Given the description of an element on the screen output the (x, y) to click on. 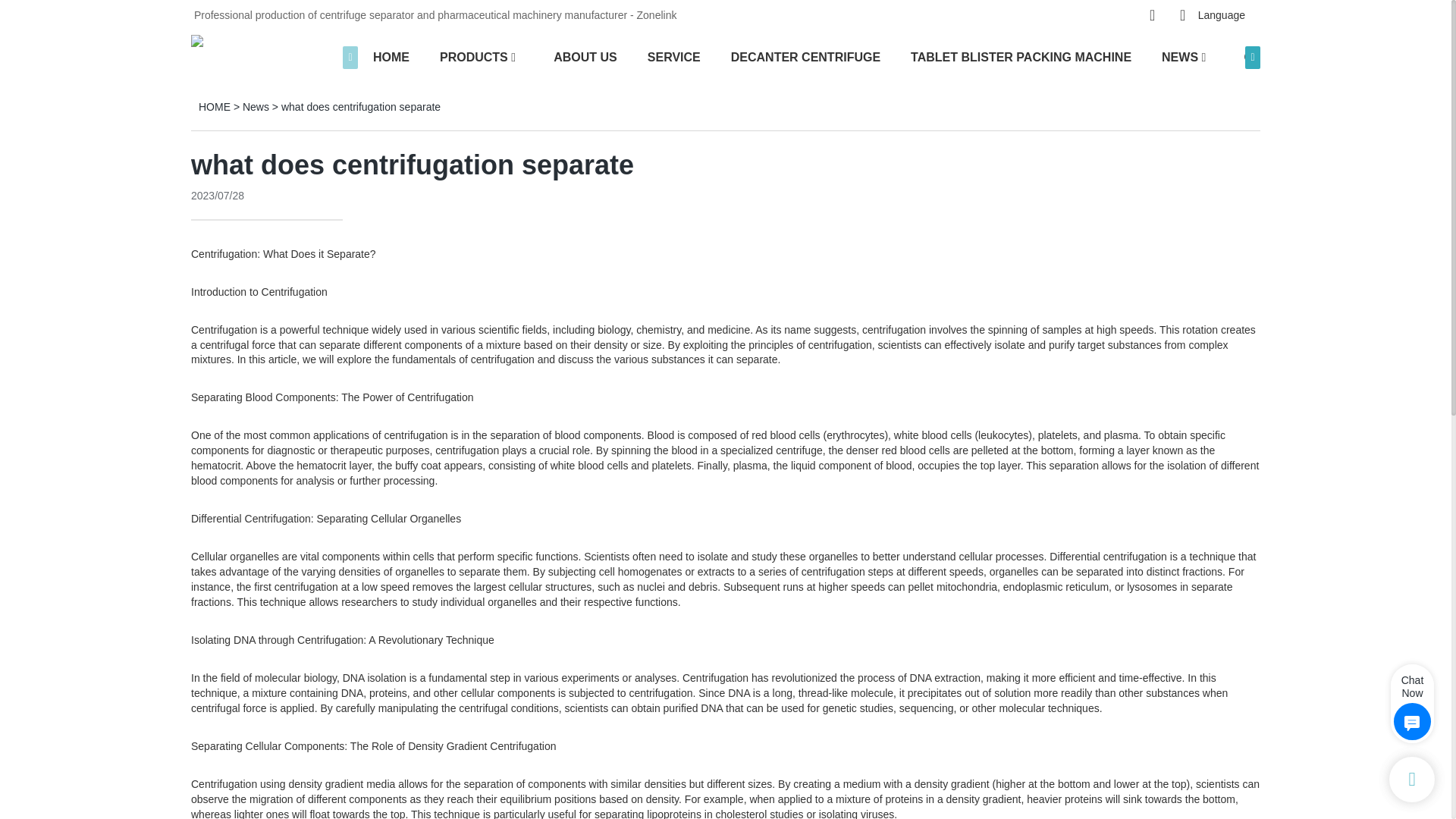
HOME (214, 106)
News (256, 106)
CONTACT US (1282, 56)
DECANTER CENTRIFUGE (805, 56)
ABOUT US (585, 56)
HOME (390, 56)
SERVICE (673, 56)
PRODUCTS (473, 56)
what does centrifugation separate (361, 106)
TABLET BLISTER PACKING MACHINE (1021, 56)
NEWS (1179, 56)
